Given the description of an element on the screen output the (x, y) to click on. 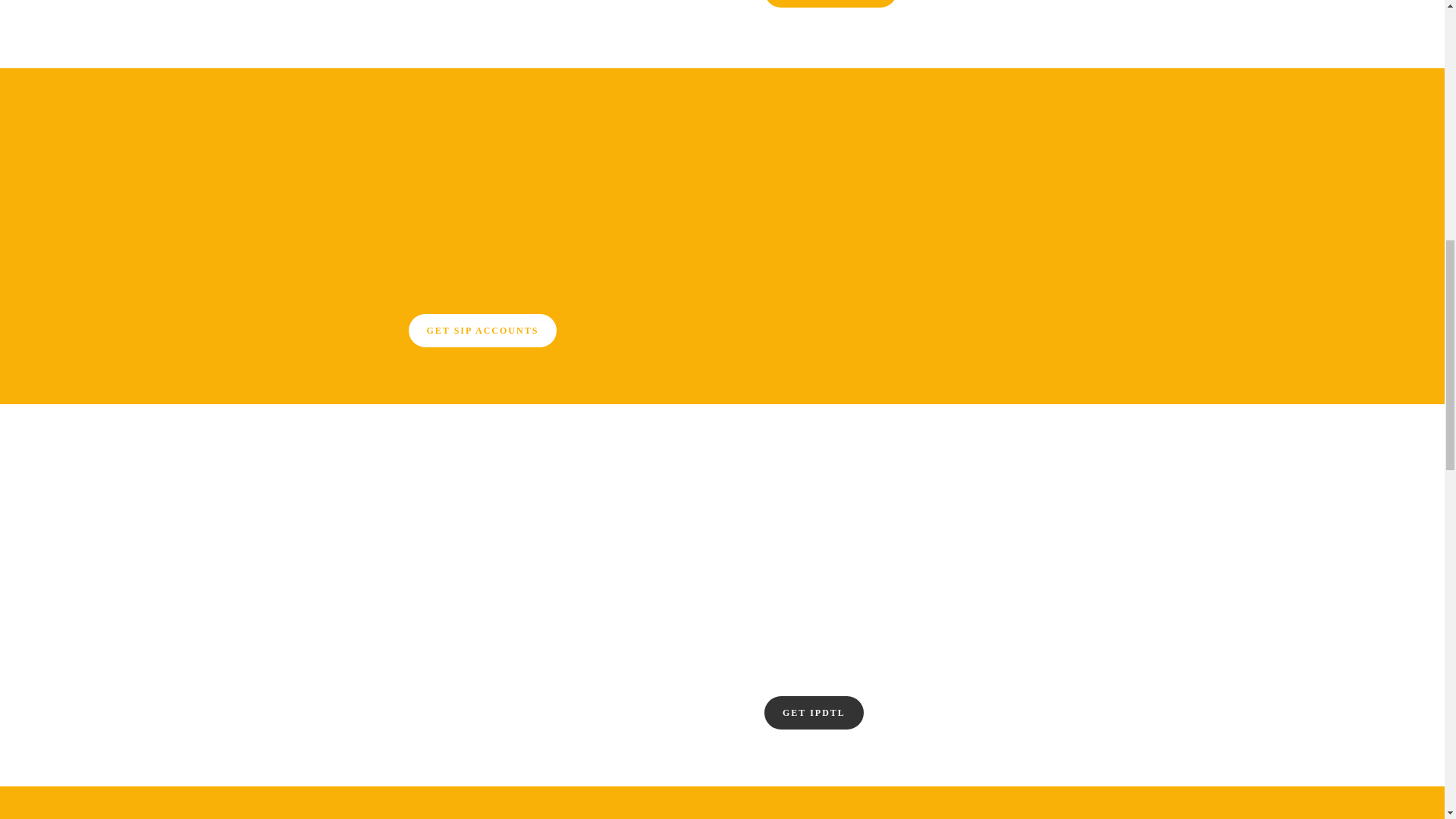
GET IPDTL (813, 712)
GET SIP ACCOUNTS (481, 330)
SIP OPUS CODEC (830, 3)
